Given the description of an element on the screen output the (x, y) to click on. 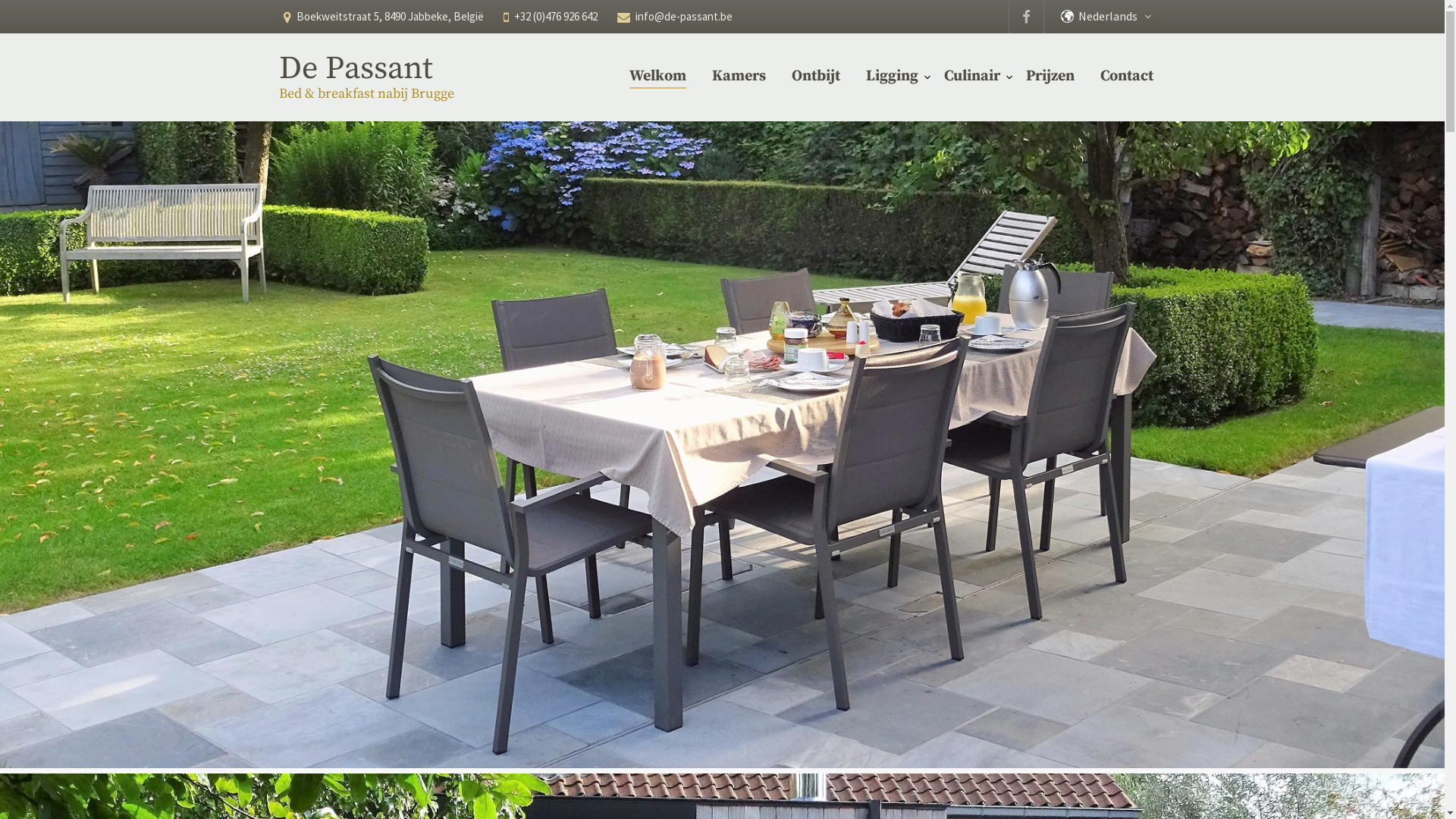
Nederlands Element type: text (1117, 15)
De Passant
Bed & breakfast nabij Brugge Element type: text (368, 75)
+32 (0)476 926 642 Element type: text (555, 16)
Ontbijt Element type: text (815, 77)
Ligging Element type: text (892, 77)
Prijzen Element type: text (1049, 77)
Culinair Element type: text (971, 77)
Contact Element type: text (1125, 77)
info@de-passant.be Element type: text (683, 16)
Welkom Element type: text (657, 77)
Kamers Element type: text (738, 77)
